Given the description of an element on the screen output the (x, y) to click on. 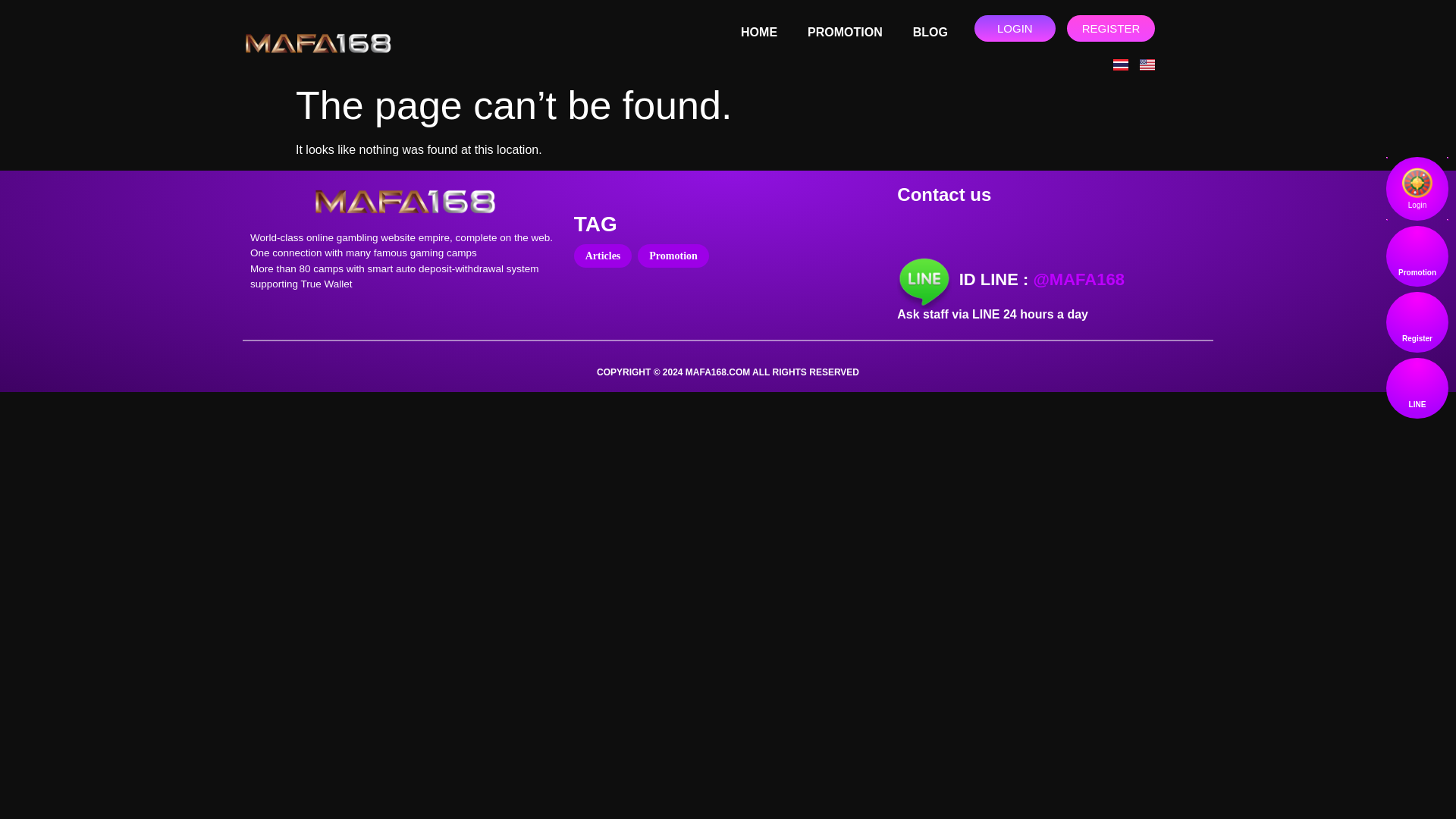
Articles (602, 255)
Promotion (673, 255)
BLOG (930, 32)
PROMOTION (845, 32)
HOME (758, 32)
REGISTER (1111, 28)
LOGIN (1014, 28)
